Given the description of an element on the screen output the (x, y) to click on. 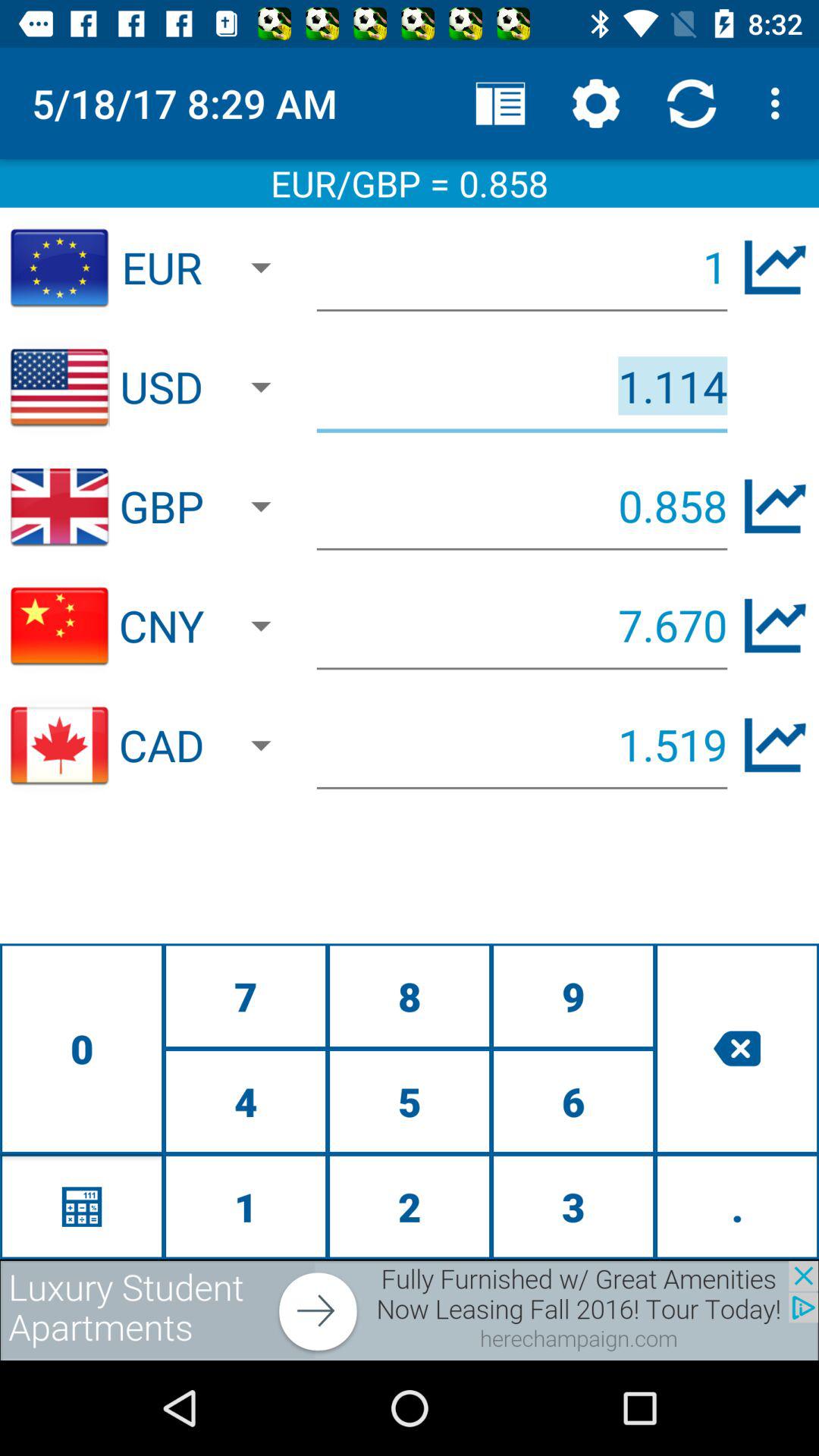
chart (775, 744)
